Given the description of an element on the screen output the (x, y) to click on. 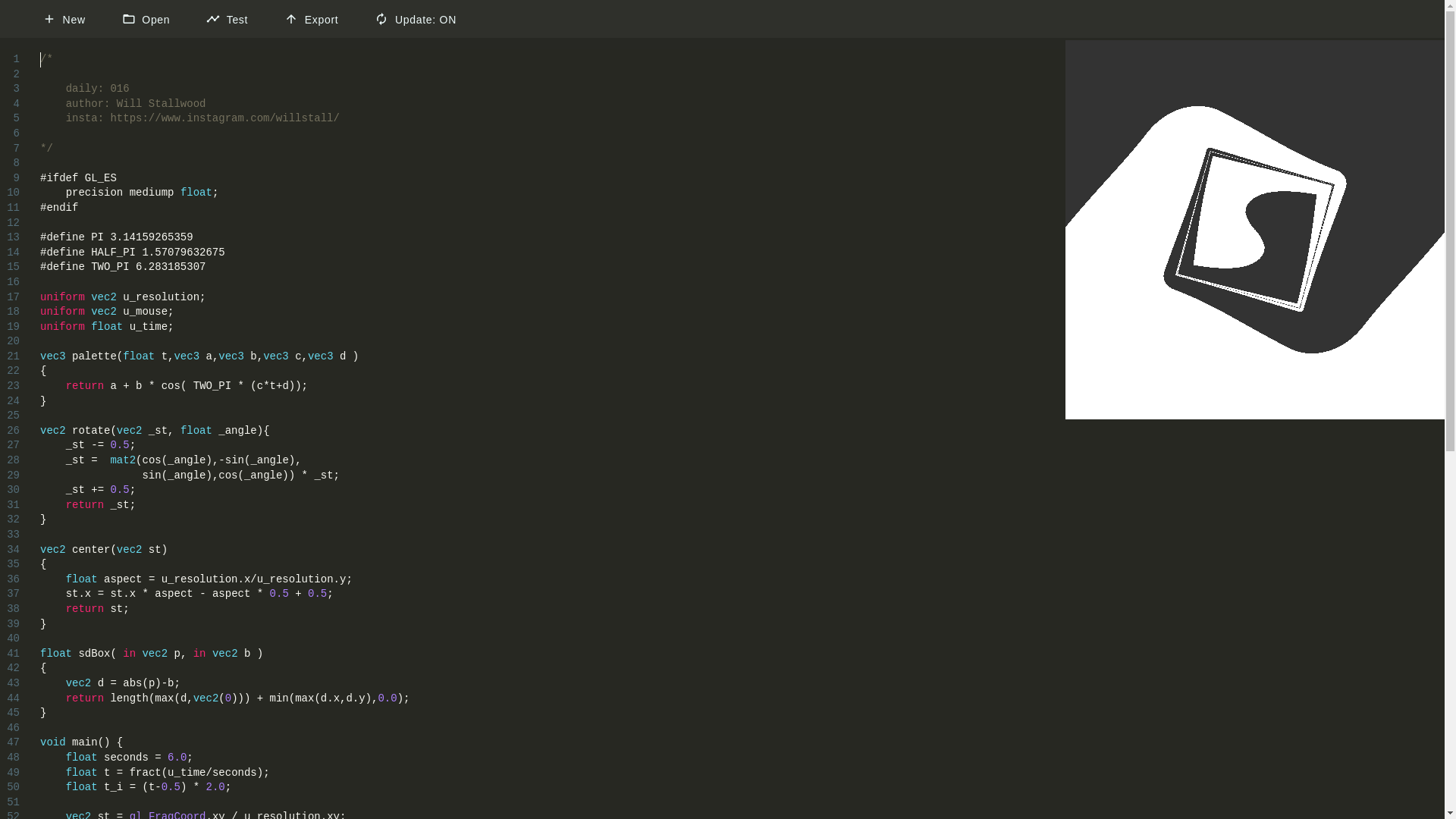
folder_open Open Element type: text (146, 18)
autorenew Update: ON Element type: text (415, 18)
timeline Test Element type: text (226, 18)
arrow_upward Export Element type: text (311, 18)
add New Element type: text (63, 18)
